Given the description of an element on the screen output the (x, y) to click on. 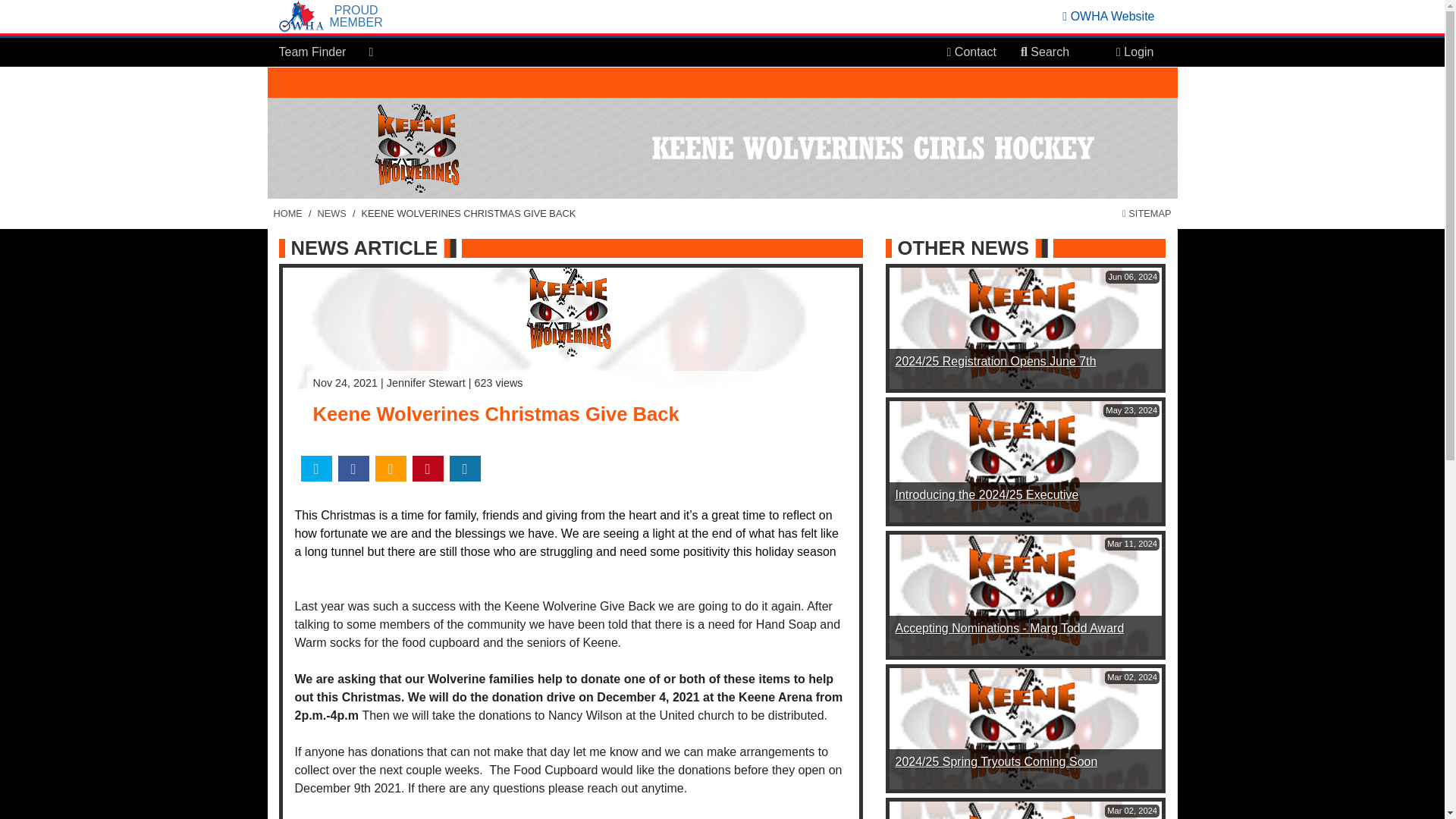
read more of this item (995, 360)
 Login (1134, 51)
 Search (1045, 51)
NEWS (331, 212)
Ontario Women's Hockey Association (1108, 16)
read more of this item (986, 494)
OWHA Website (1108, 16)
List of News (331, 212)
read more of this item (1009, 627)
Main Home Page (287, 212)
